Given the description of an element on the screen output the (x, y) to click on. 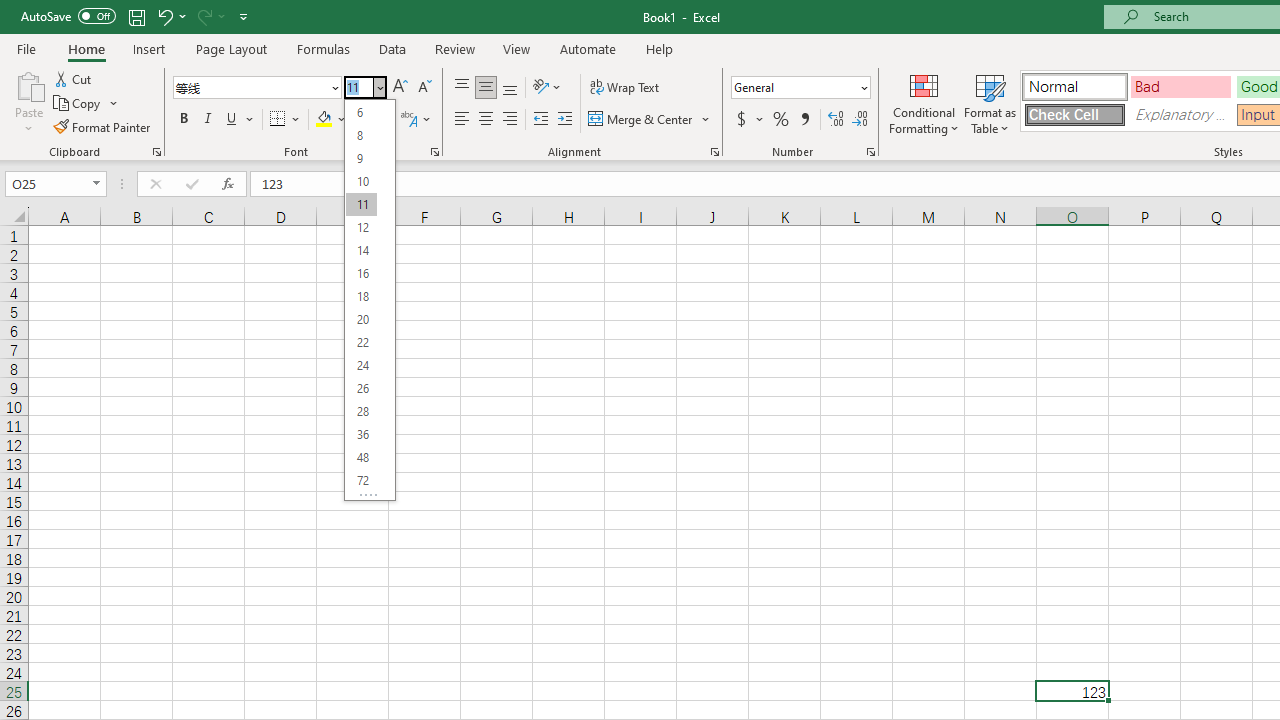
Paste (28, 102)
Center (485, 119)
Fill Color RGB(255, 255, 0) (324, 119)
36 (361, 434)
28 (361, 411)
Cut (73, 78)
Format as Table (990, 102)
Wrap Text (624, 87)
Check Cell (1074, 114)
Accounting Number Format (749, 119)
Font (256, 87)
